Given the description of an element on the screen output the (x, y) to click on. 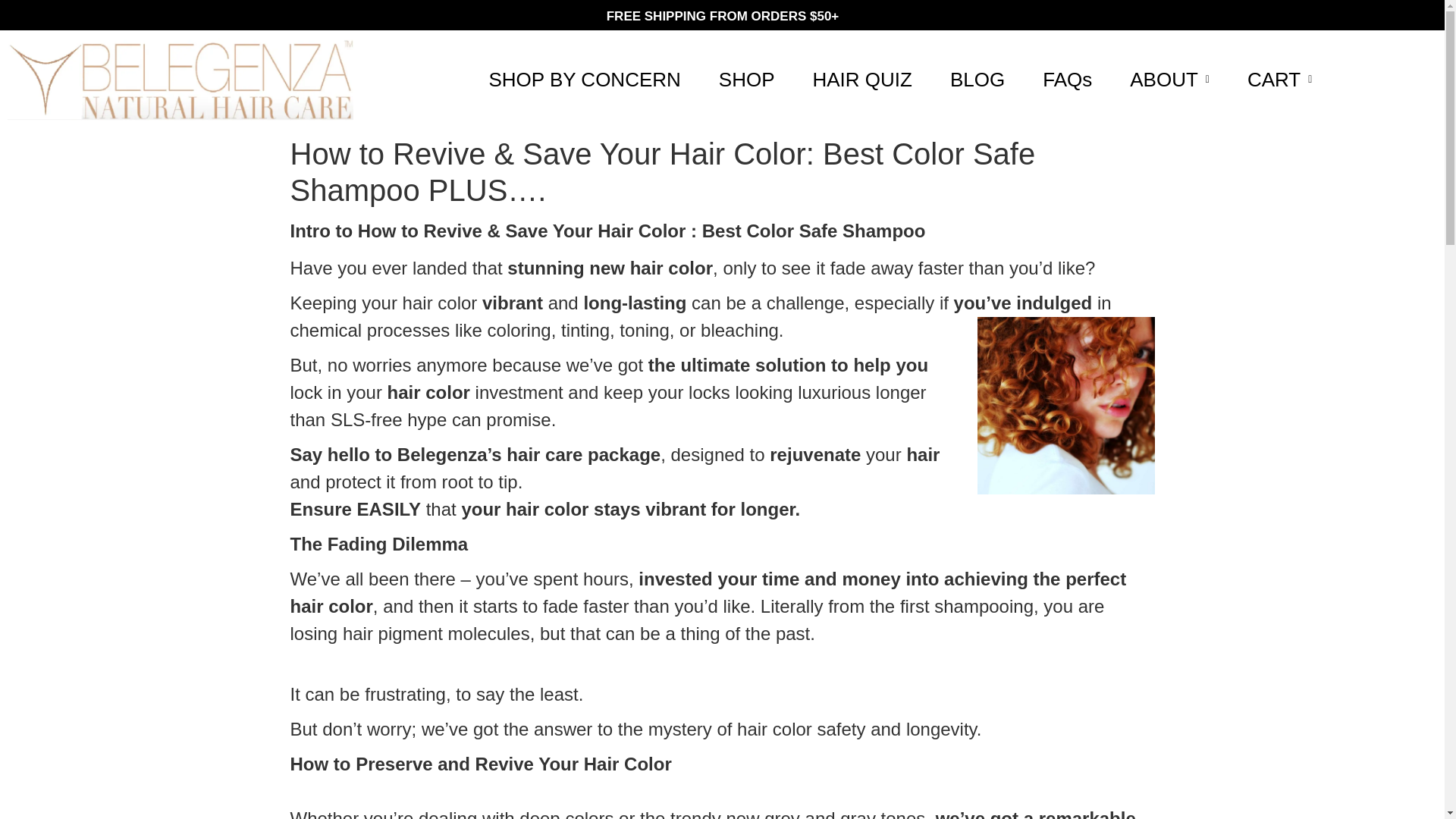
SHOP BY CONCERN (583, 79)
HAIR QUIZ (861, 79)
CART (1279, 79)
ABOUT (1169, 79)
SHOP (746, 79)
FAQs (1066, 79)
BLOG (977, 79)
